Given the description of an element on the screen output the (x, y) to click on. 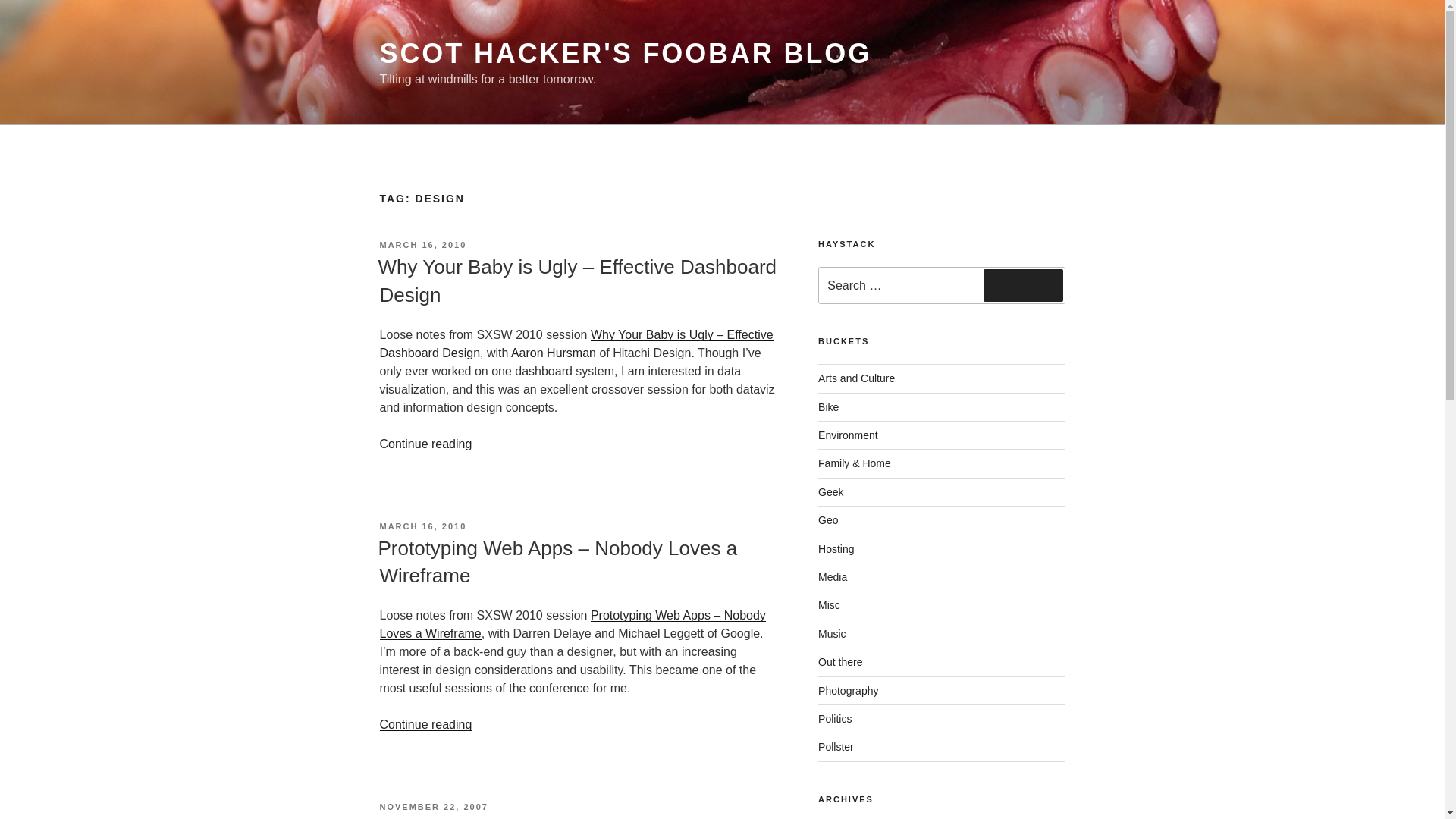
Geek (830, 491)
Bike (828, 407)
SCOT HACKER'S FOOBAR BLOG (624, 52)
Out there (839, 662)
Geo (828, 520)
Search (1023, 285)
Media (832, 576)
Pollster (835, 746)
MARCH 16, 2010 (421, 525)
Politics (834, 718)
